Given the description of an element on the screen output the (x, y) to click on. 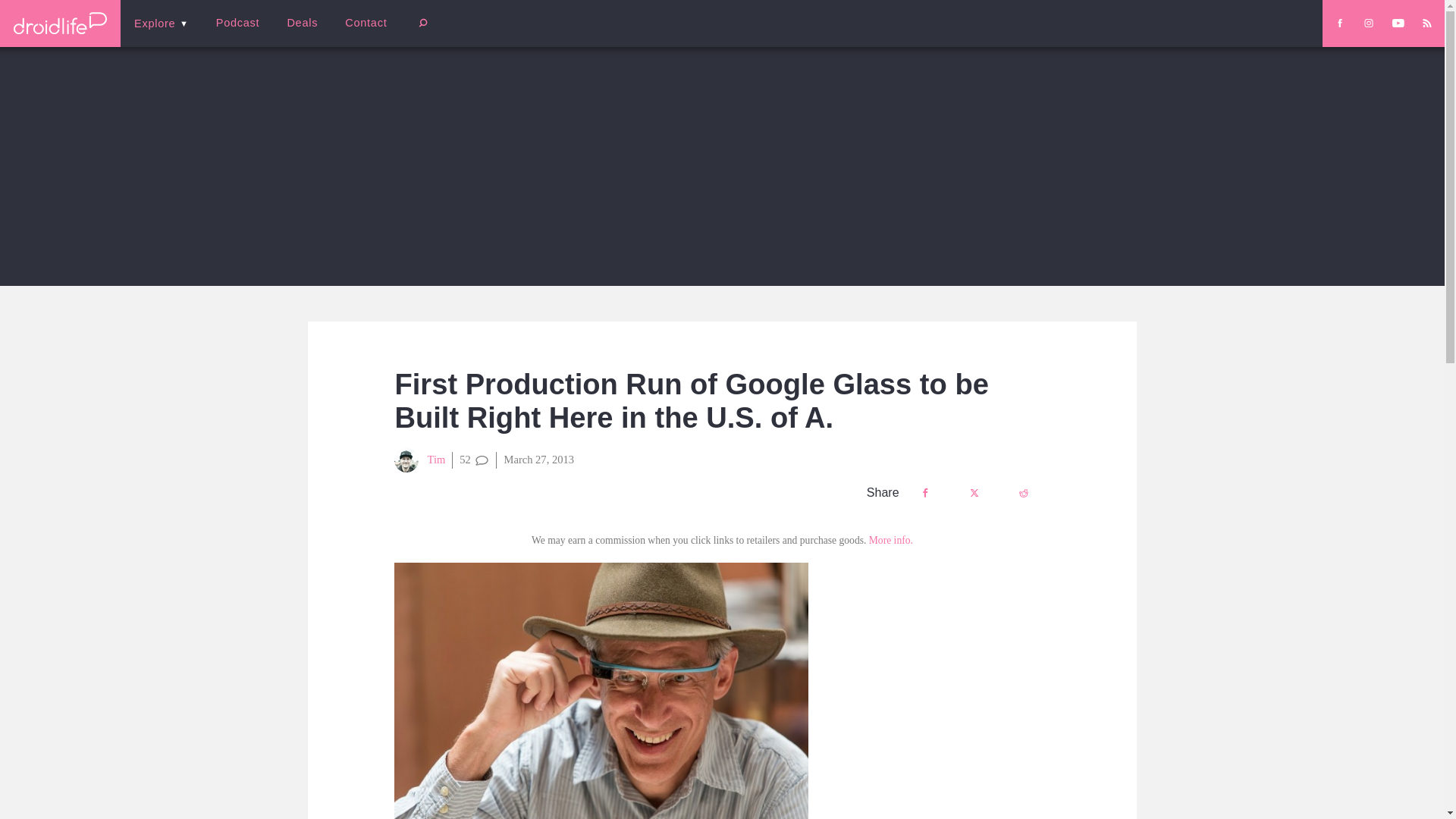
Droid Life RSS (1426, 23)
Beginners' Guide (360, 33)
Contact (365, 23)
Droid Life on Facebook (1339, 23)
Droid Life on Instagram (1368, 23)
Explore (161, 23)
Deals (302, 23)
Droid Life on YouTube (1398, 23)
Tim (419, 459)
Podcast (237, 23)
